Given the description of an element on the screen output the (x, y) to click on. 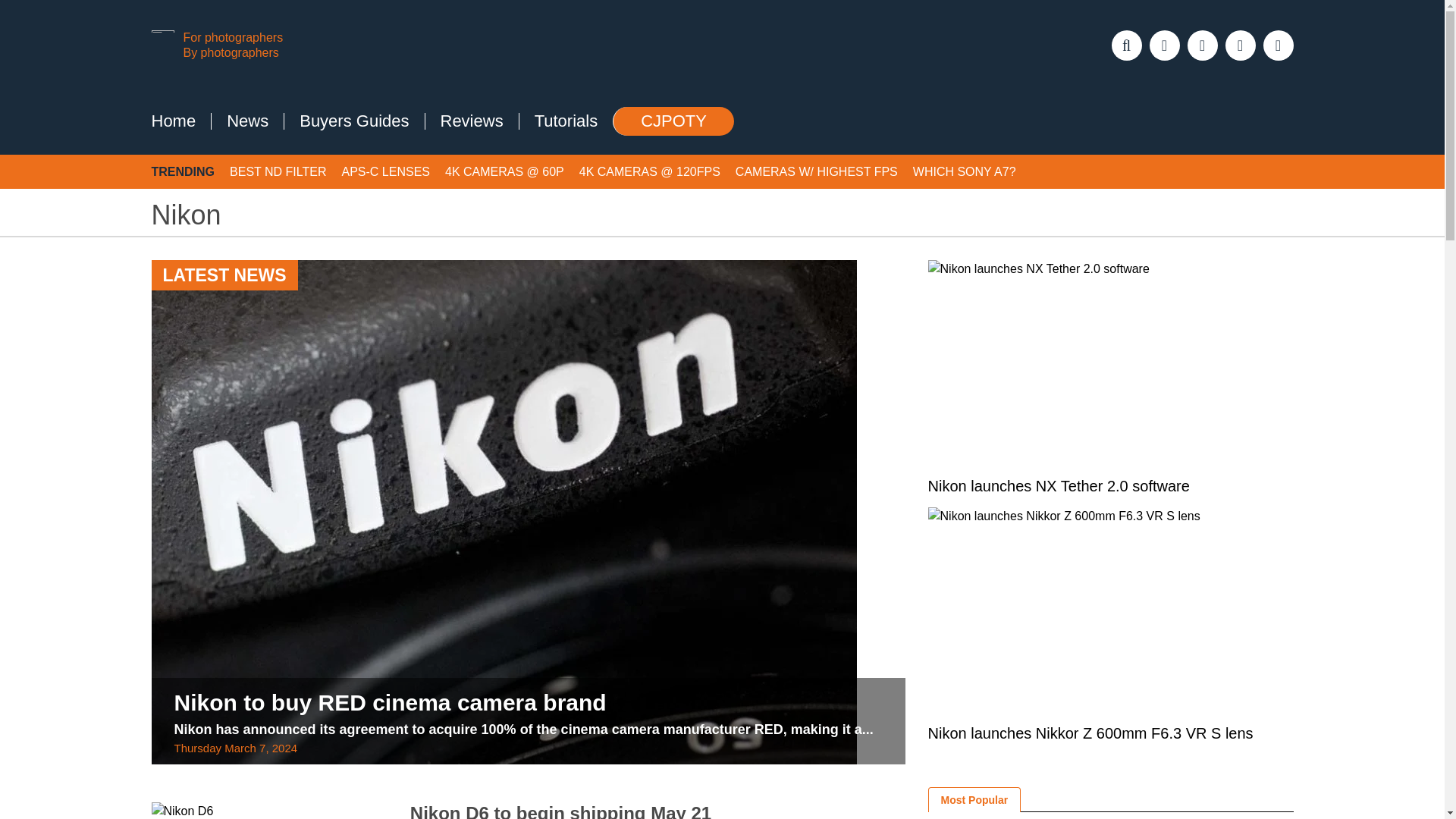
Tutorials (565, 121)
Nikon launches NX Tether 2.0 software (1111, 363)
Search (26, 16)
Reviews (471, 121)
APS-C LENSES (384, 171)
Nikon launches Nikkor Z 600mm F6.3 VR S lens (1111, 609)
Nikon D6 to begin shipping May 21 (560, 811)
CJPOTY (674, 121)
News (247, 121)
Nikon D6 to begin shipping May 21 (560, 811)
